Given the description of an element on the screen output the (x, y) to click on. 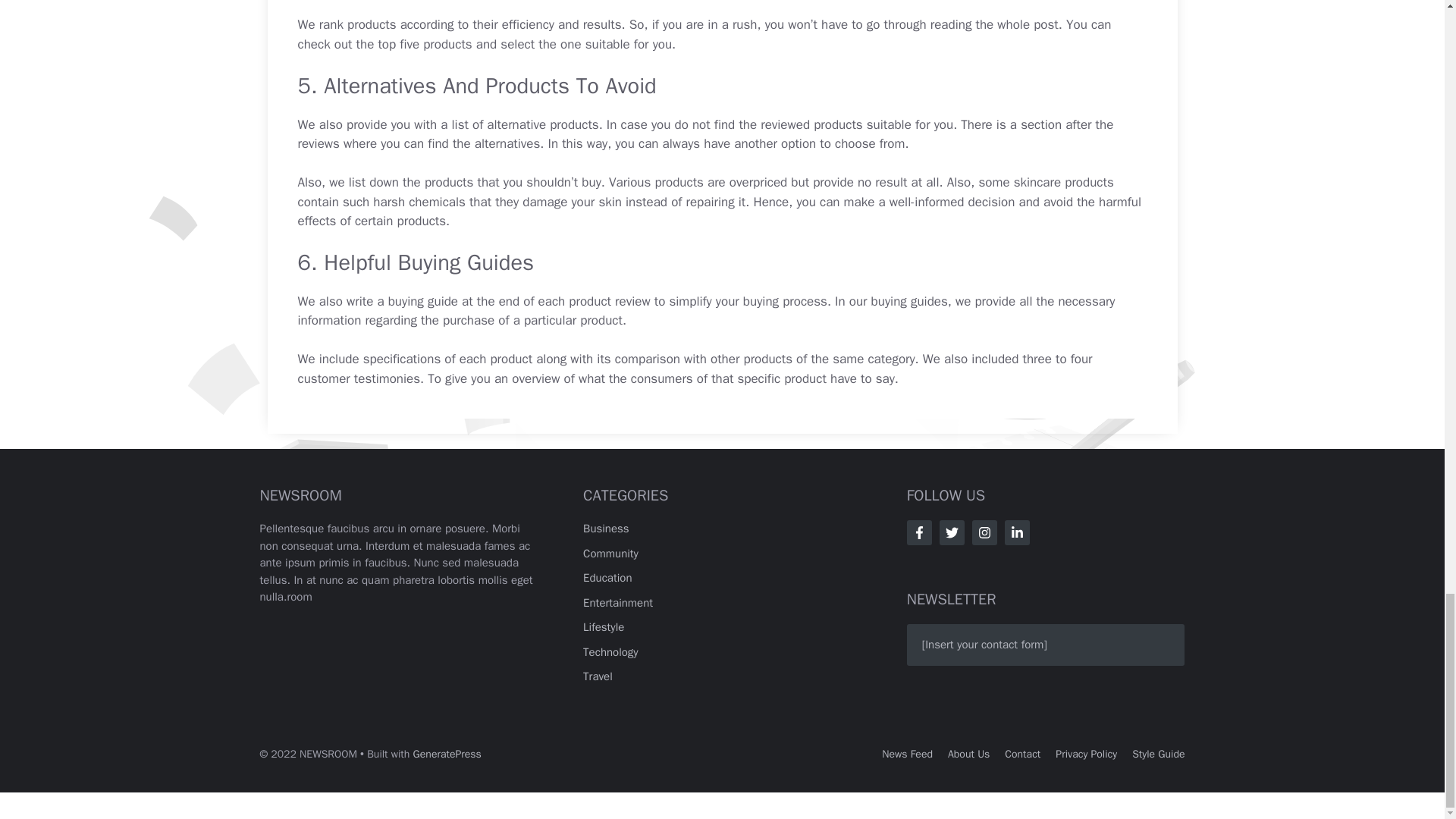
Business (605, 528)
Lifestyle (603, 626)
Entertainment (617, 602)
Community (611, 553)
Education (607, 577)
Technology (611, 652)
